Given the description of an element on the screen output the (x, y) to click on. 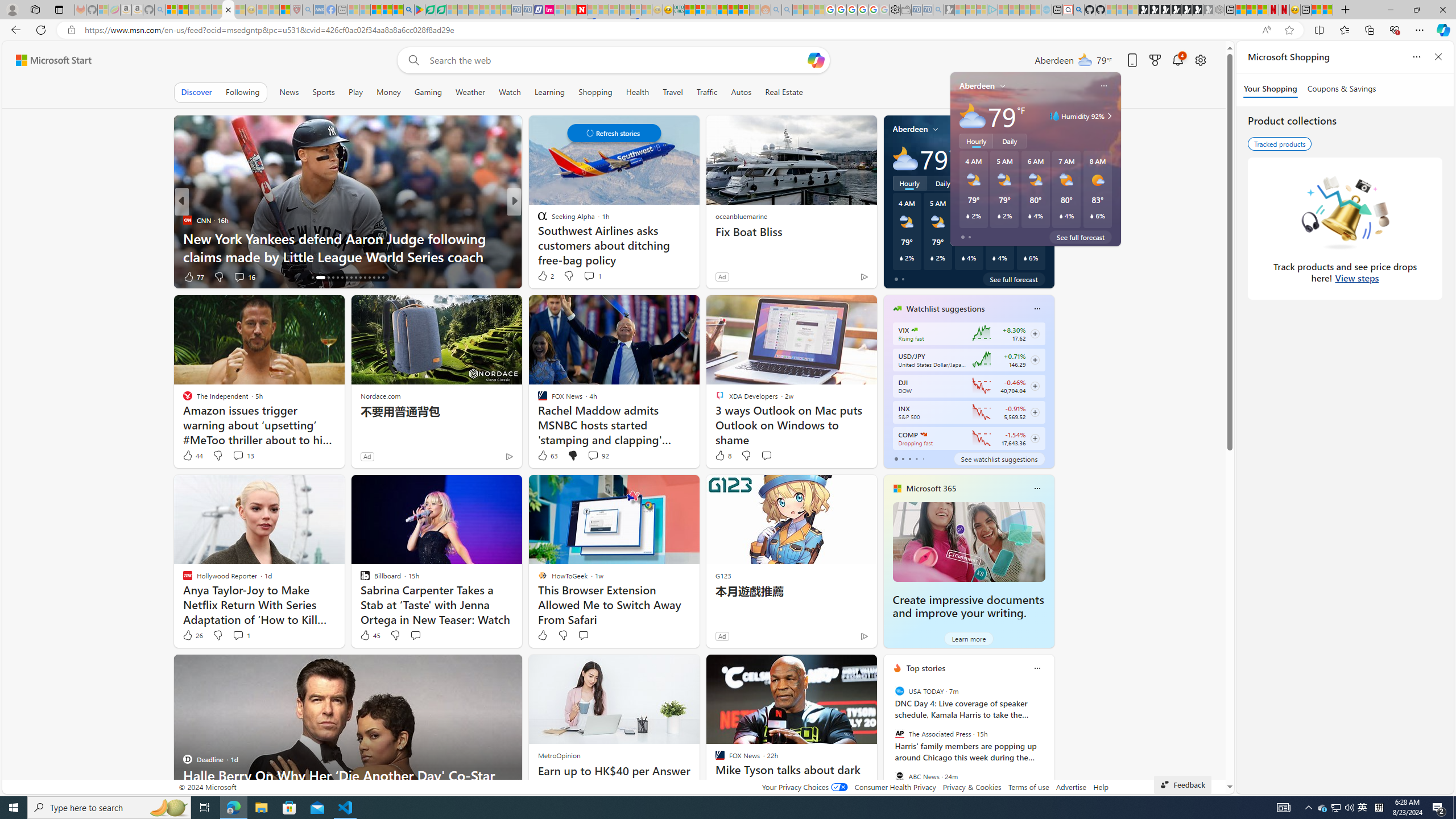
See full forecast (1013, 278)
Mostly cloudy (904, 158)
The Washington Post (537, 219)
previous (888, 741)
The Associated Press (898, 733)
